Given the description of an element on the screen output the (x, y) to click on. 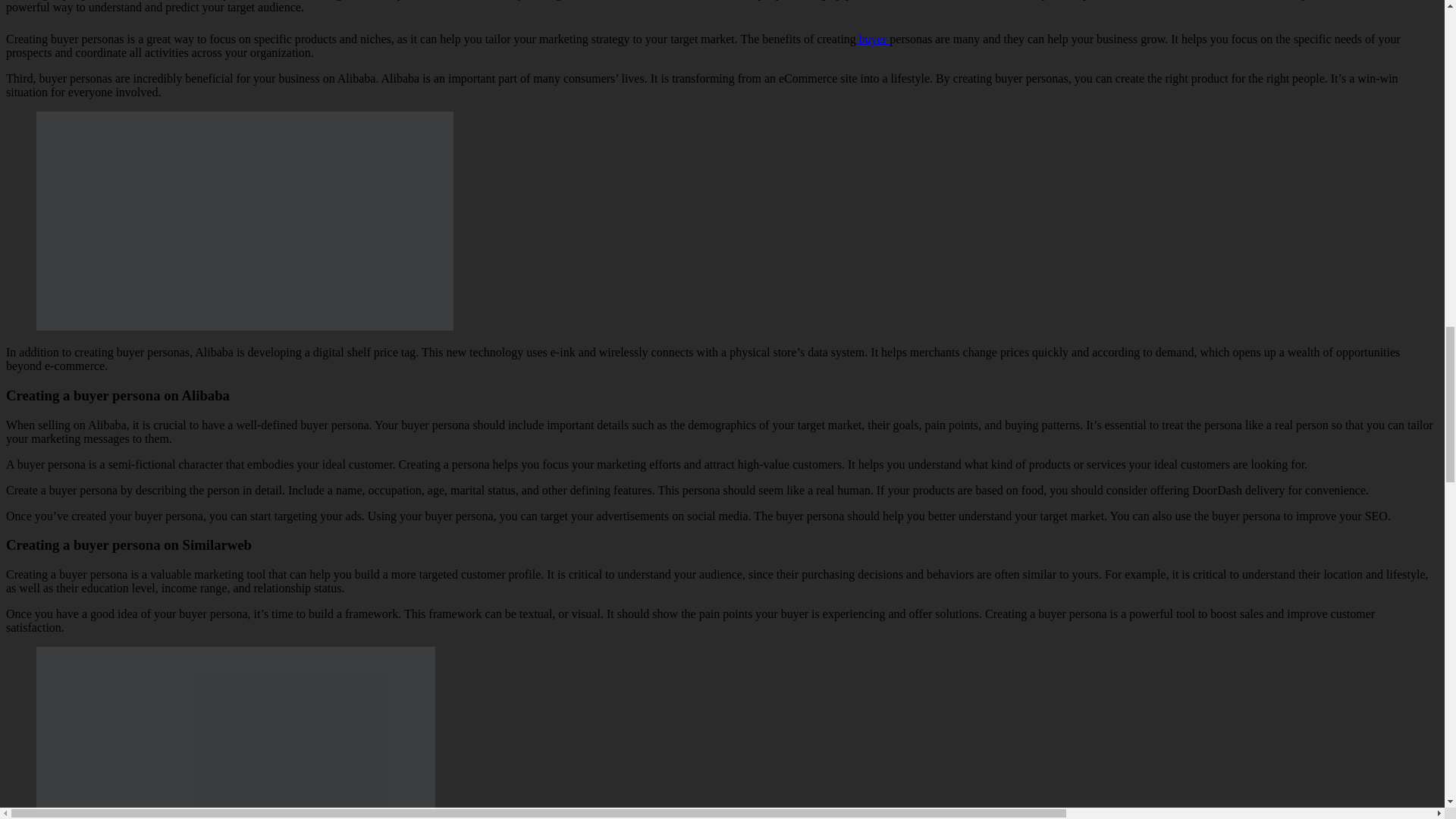
buyer (872, 38)
